Given the description of an element on the screen output the (x, y) to click on. 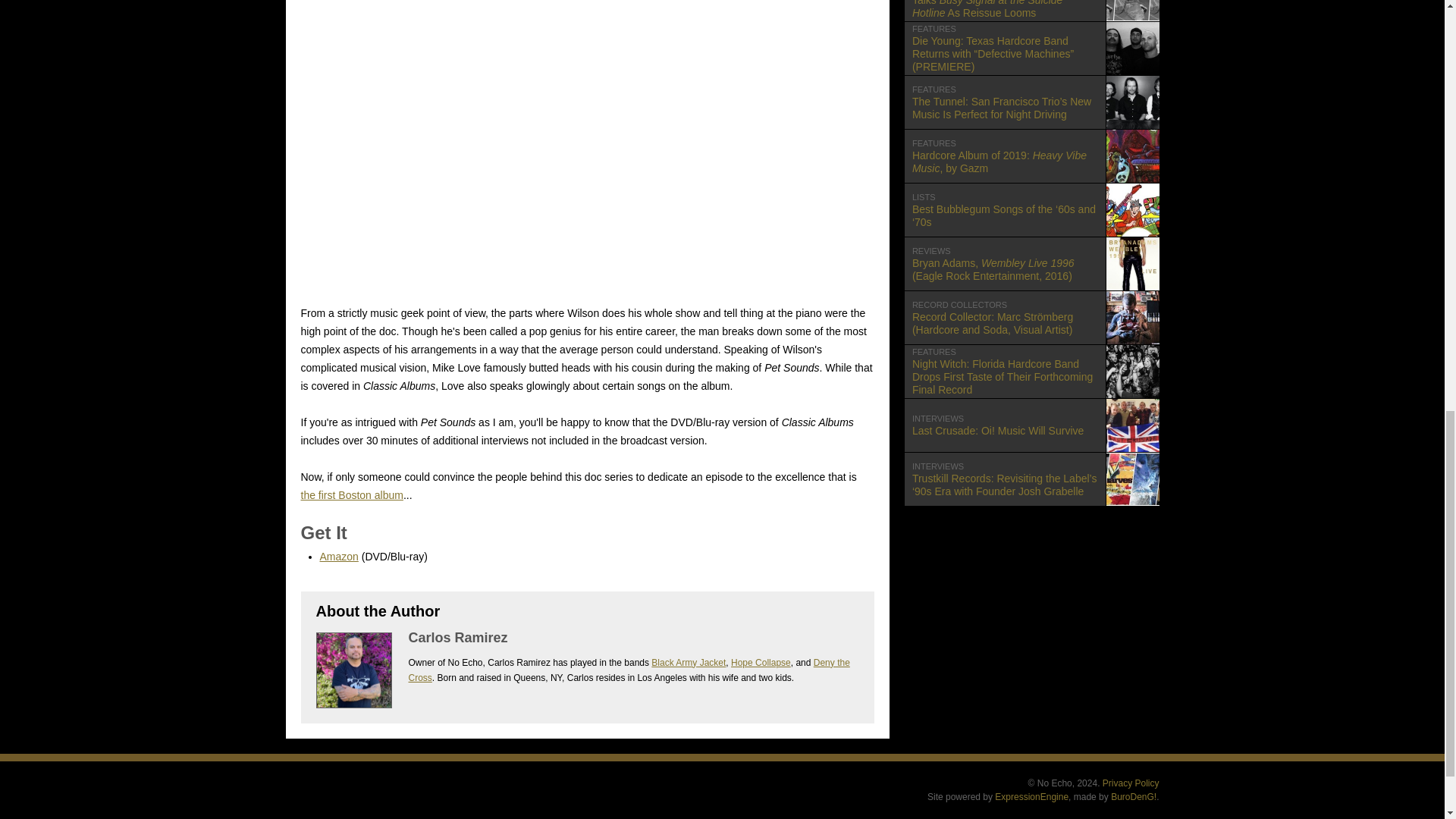
the first Boston album (351, 494)
Amazon (1031, 155)
Deny the Cross (339, 556)
Hope Collapse (627, 670)
Black Army Jacket (760, 662)
